Given the description of an element on the screen output the (x, y) to click on. 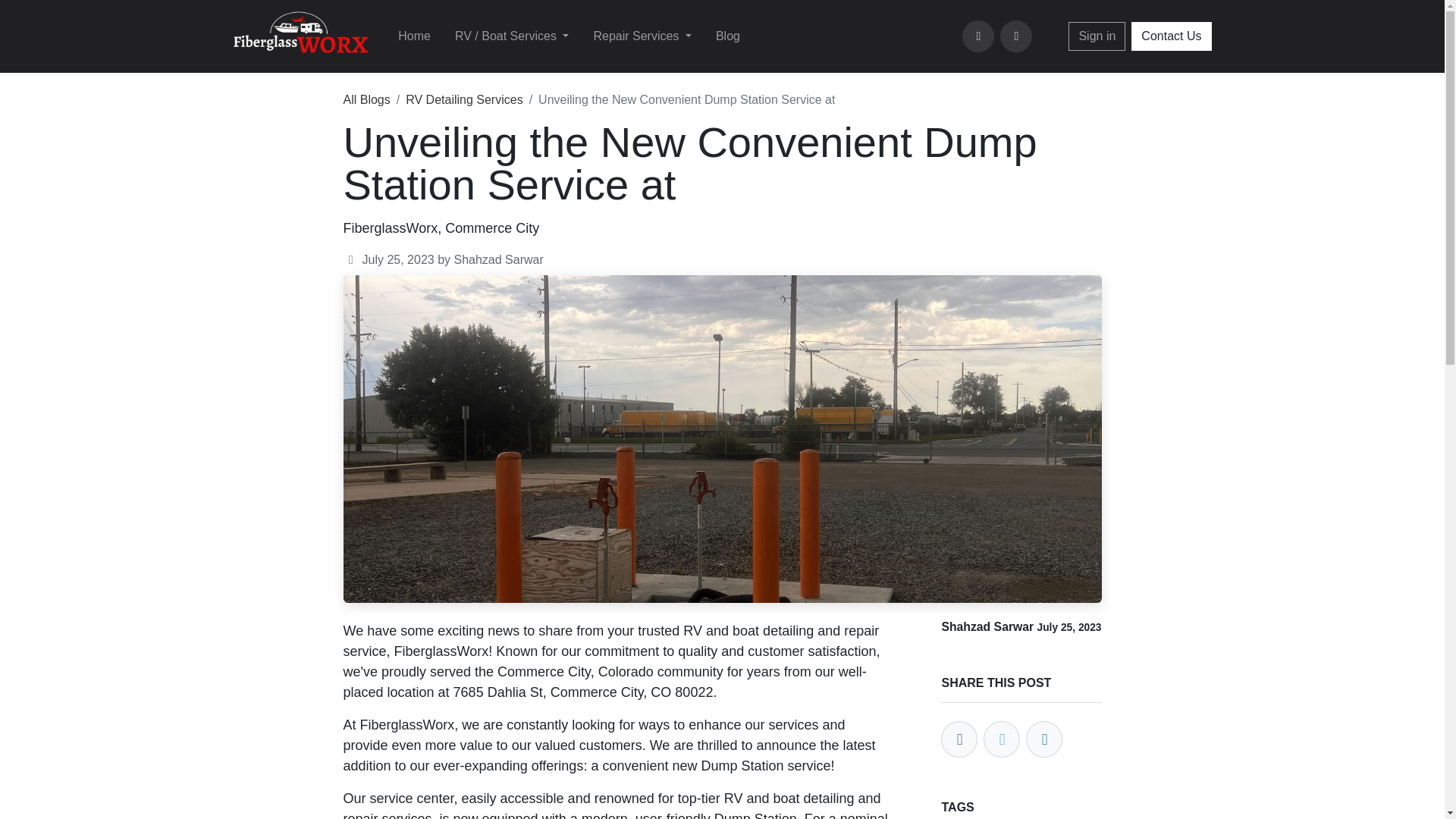
Blog (727, 36)
Contact Us (1171, 36)
Repair Services (641, 36)
Home (413, 36)
Search (1016, 36)
FiberglassWorx (300, 35)
Sign in (1096, 36)
RV Detailing Services (464, 99)
All Blogs (366, 99)
